Given the description of an element on the screen output the (x, y) to click on. 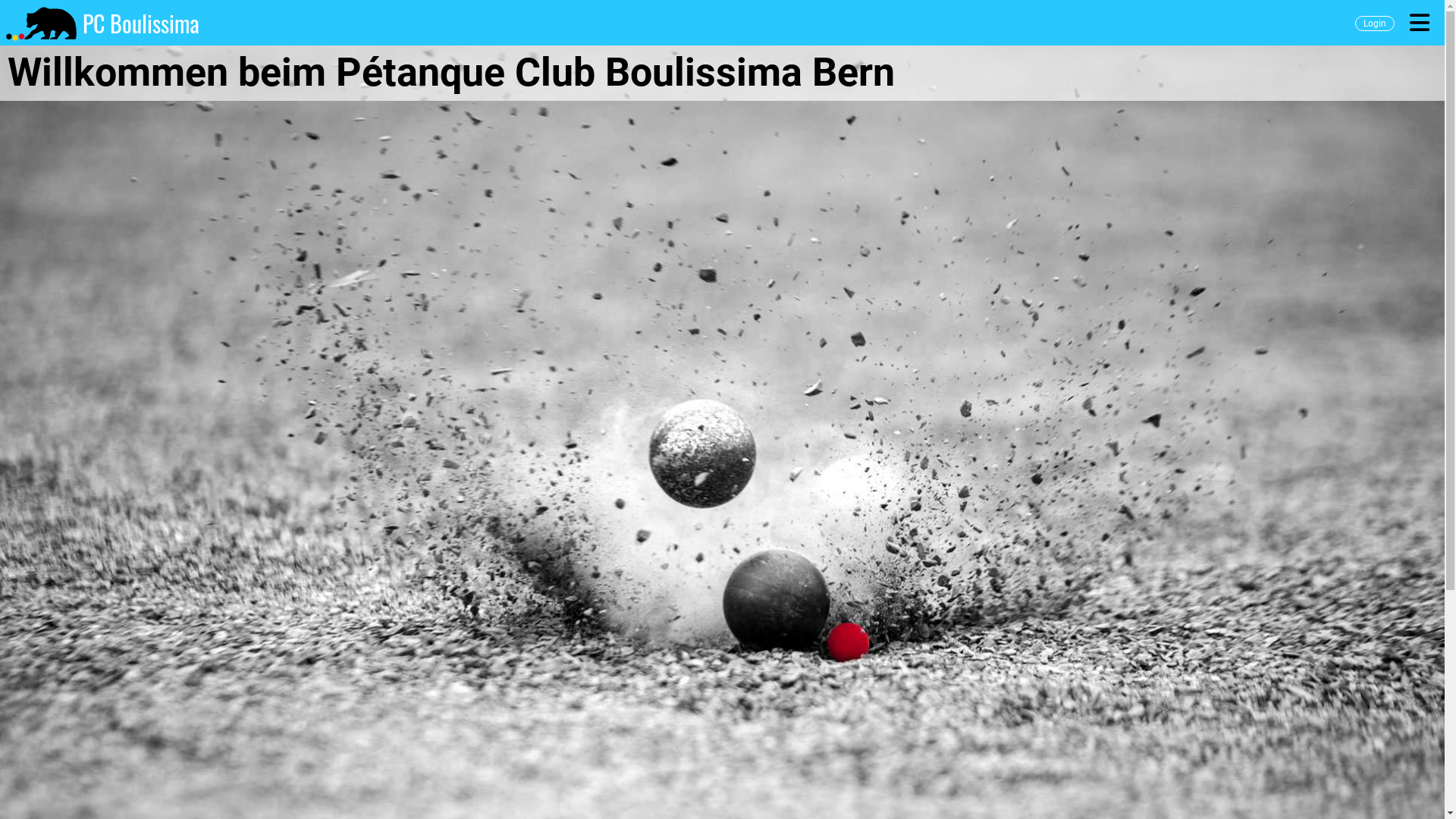
Login Element type: text (1374, 23)
PC Boulissima Element type: text (140, 23)
